Given the description of an element on the screen output the (x, y) to click on. 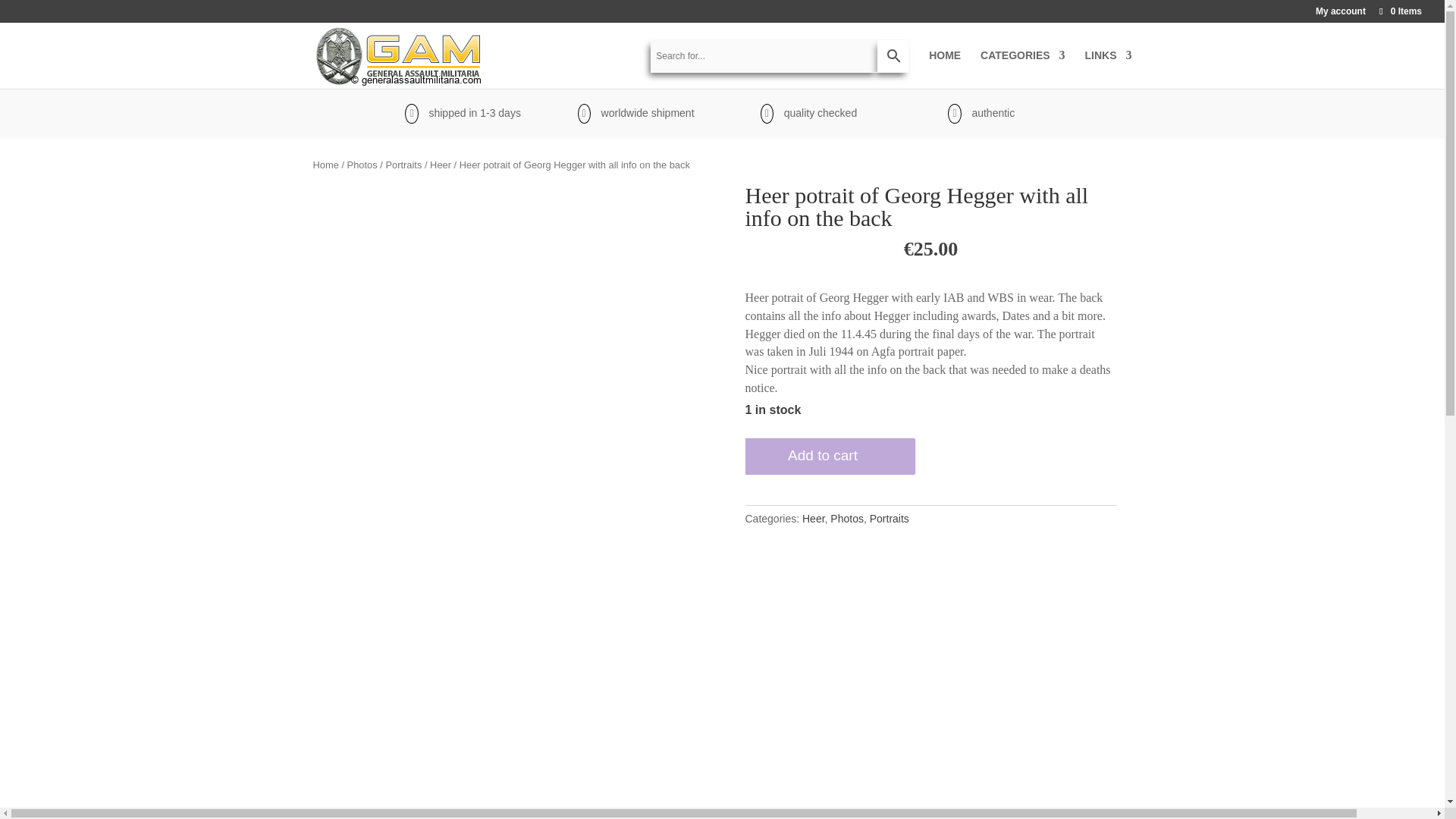
HOME (944, 65)
CATEGORIES (1022, 65)
0 Items (1399, 10)
My account (1340, 14)
